Given the description of an element on the screen output the (x, y) to click on. 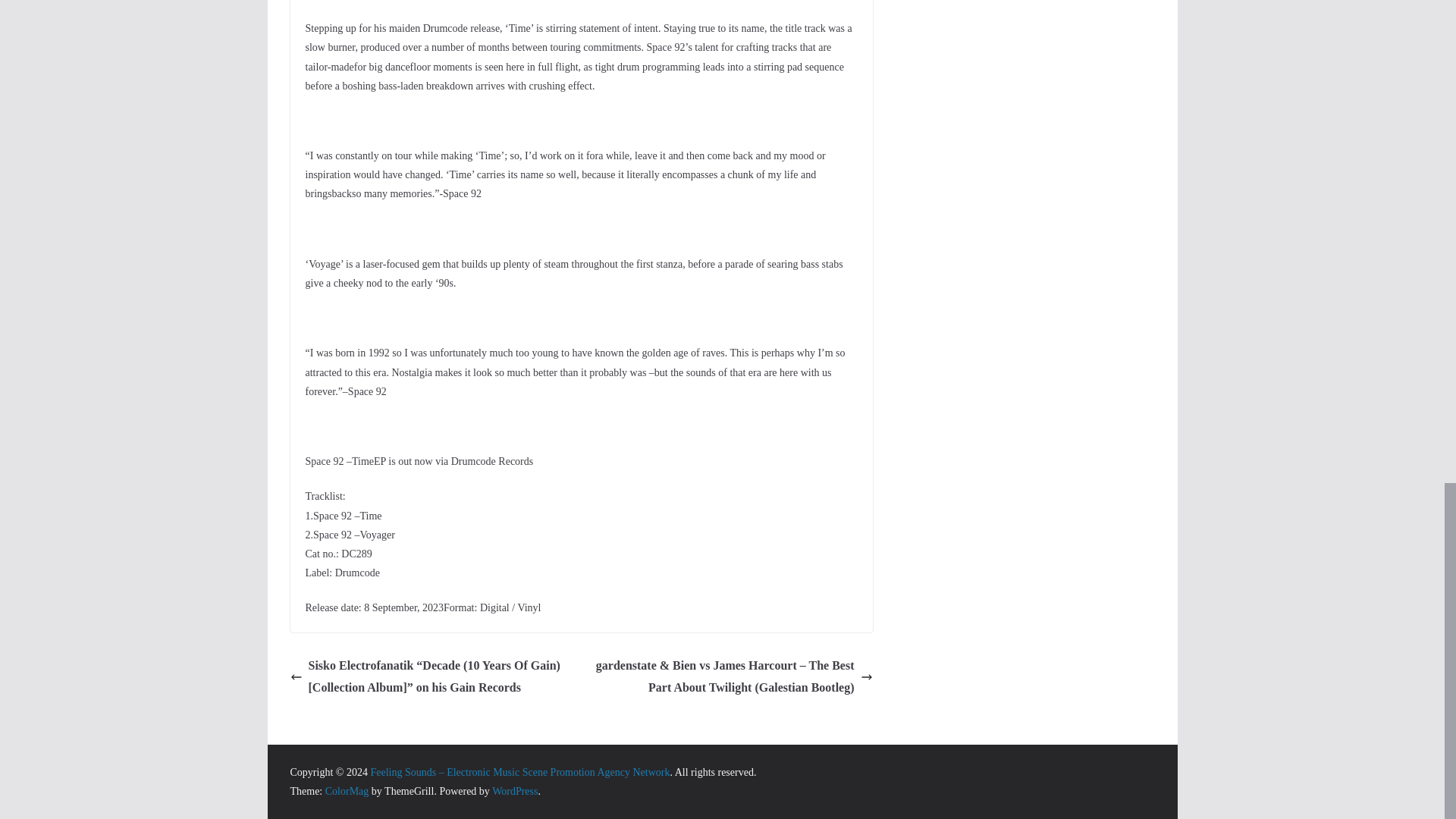
WordPress (514, 790)
ColorMag (346, 790)
